Given the description of an element on the screen output the (x, y) to click on. 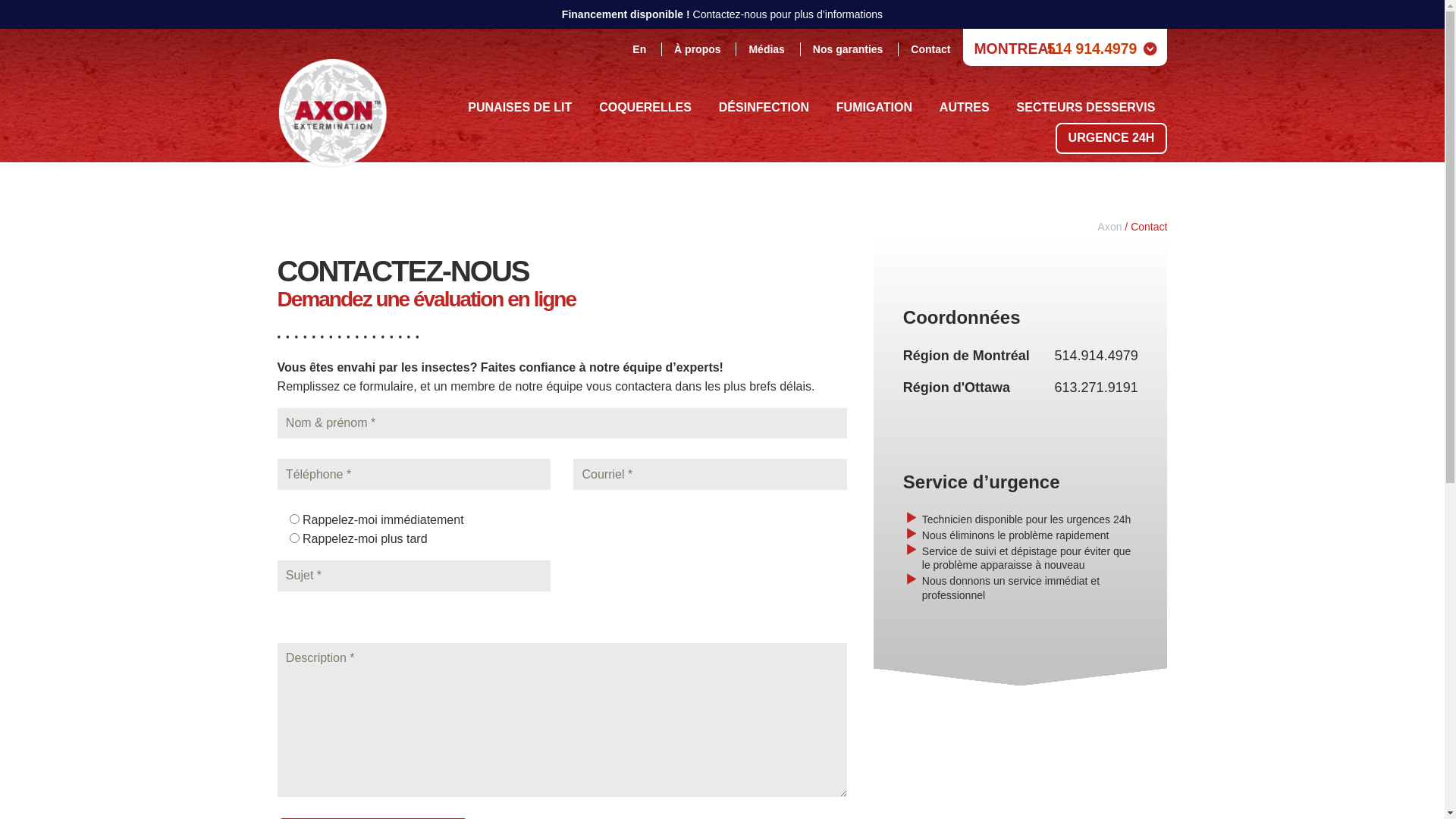
En Element type: text (639, 49)
Axon Element type: hover (332, 98)
514.914.4979 Element type: text (1096, 355)
Axon Element type: text (1110, 226)
613.271.9191 Element type: text (1096, 387)
COQUERELLES Element type: text (644, 107)
Nos garanties Element type: text (847, 49)
Contact Element type: text (930, 49)
514 914.4979 Element type: text (1092, 48)
URGENCE 24H Element type: text (1111, 137)
FUMIGATION Element type: text (874, 107)
PUNAISES DE LIT Element type: text (519, 107)
SECTEURS DESSERVIS Element type: text (1085, 107)
AUTRES Element type: text (964, 107)
